Given the description of an element on the screen output the (x, y) to click on. 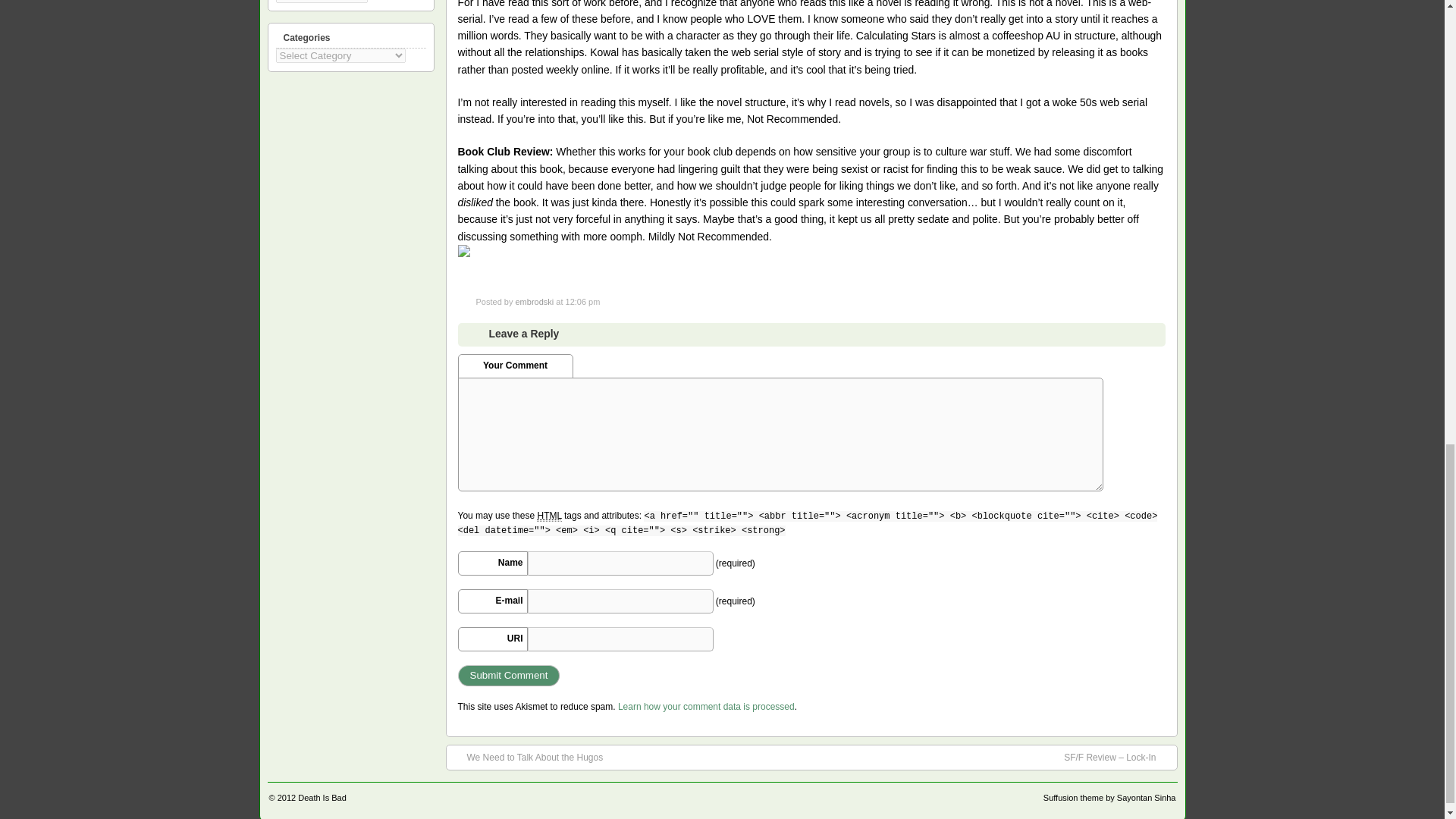
Submit Comment (509, 675)
embrodski (534, 301)
Death Is Bad (322, 797)
  We Need to Talk About the Hugos (527, 757)
HyperText Markup Language (548, 515)
Suffusion theme by Sayontan Sinha (1109, 797)
Learn how your comment data is processed (705, 706)
Submit Comment (509, 675)
